Given the description of an element on the screen output the (x, y) to click on. 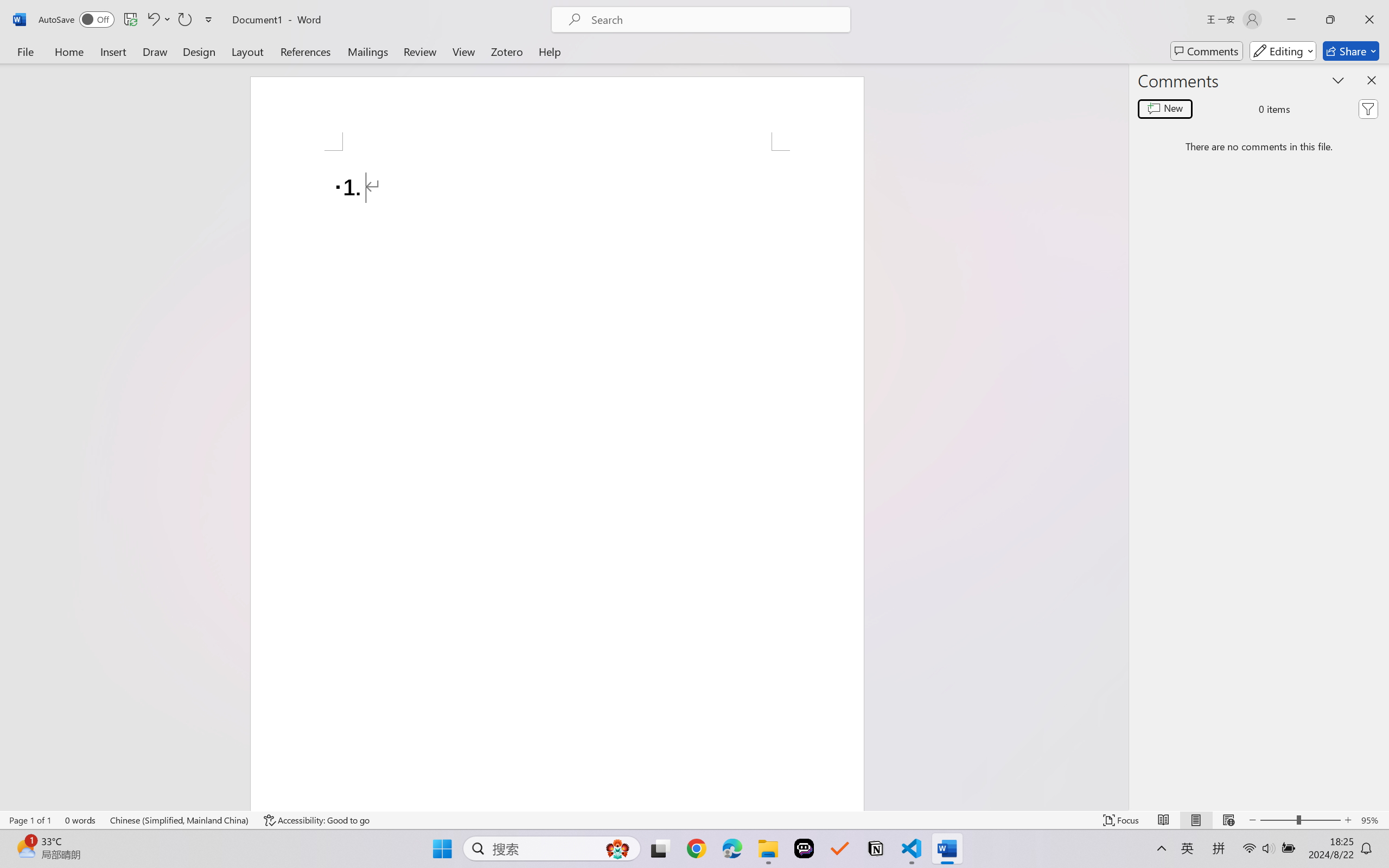
Repeat Doc Close (184, 19)
Undo Number Default (152, 19)
